Given the description of an element on the screen output the (x, y) to click on. 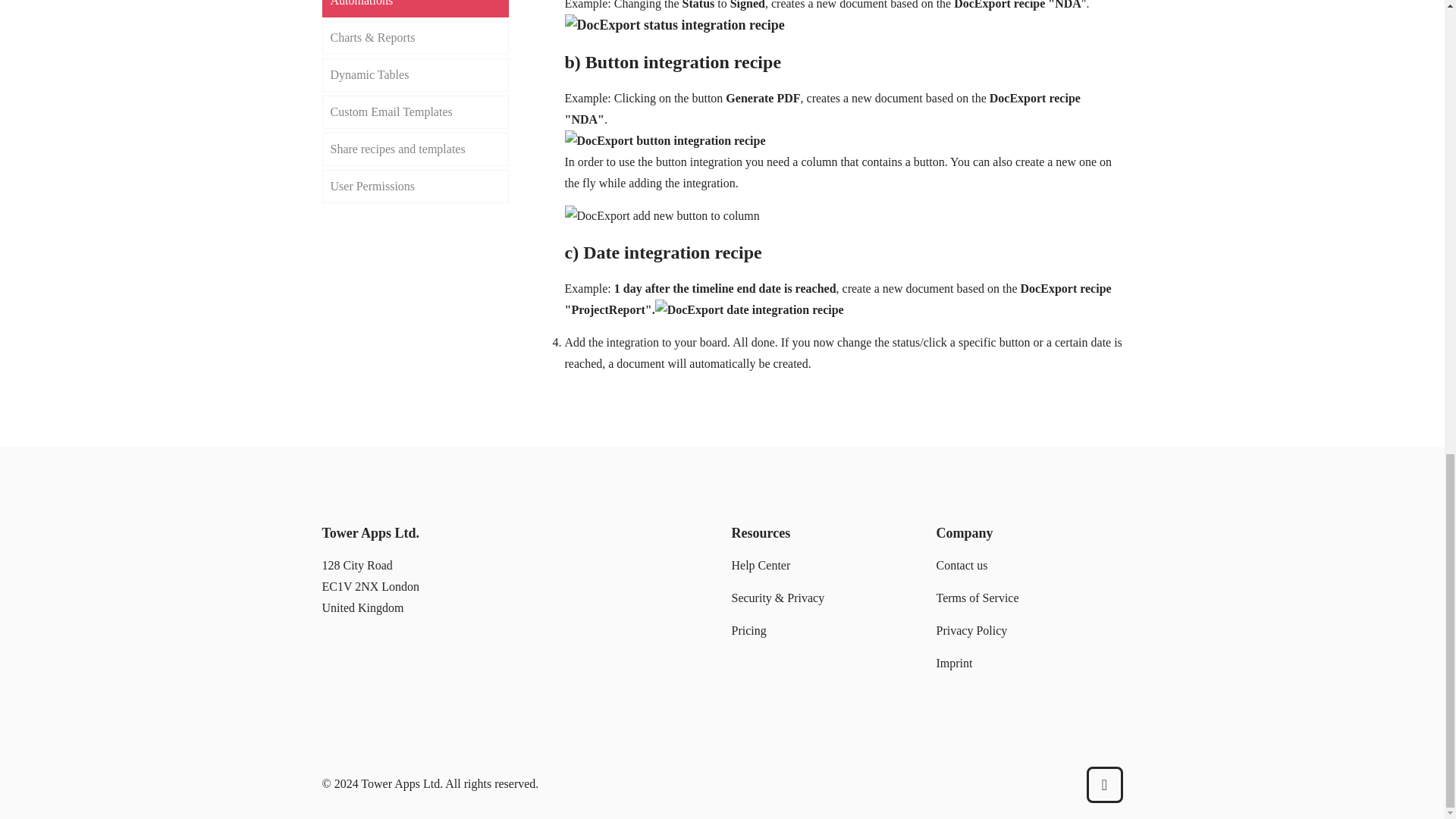
Dynamic Tables (414, 74)
Automations (414, 8)
Custom Email Templates (414, 111)
Share recipes and templates (414, 149)
User Permissions (414, 186)
Help Center (760, 564)
